Given the description of an element on the screen output the (x, y) to click on. 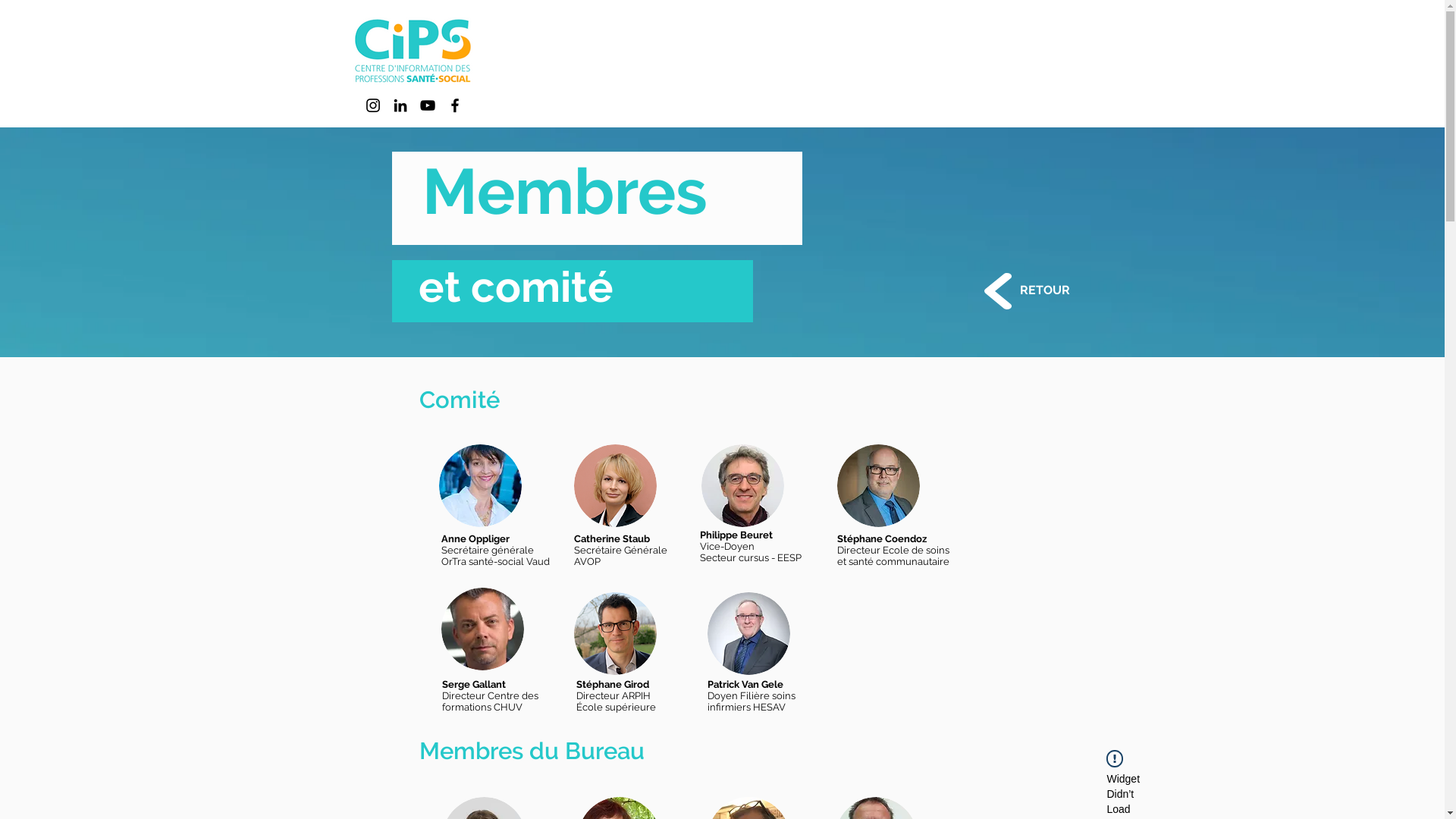
RETOUR Element type: text (1044, 289)
